Given the description of an element on the screen output the (x, y) to click on. 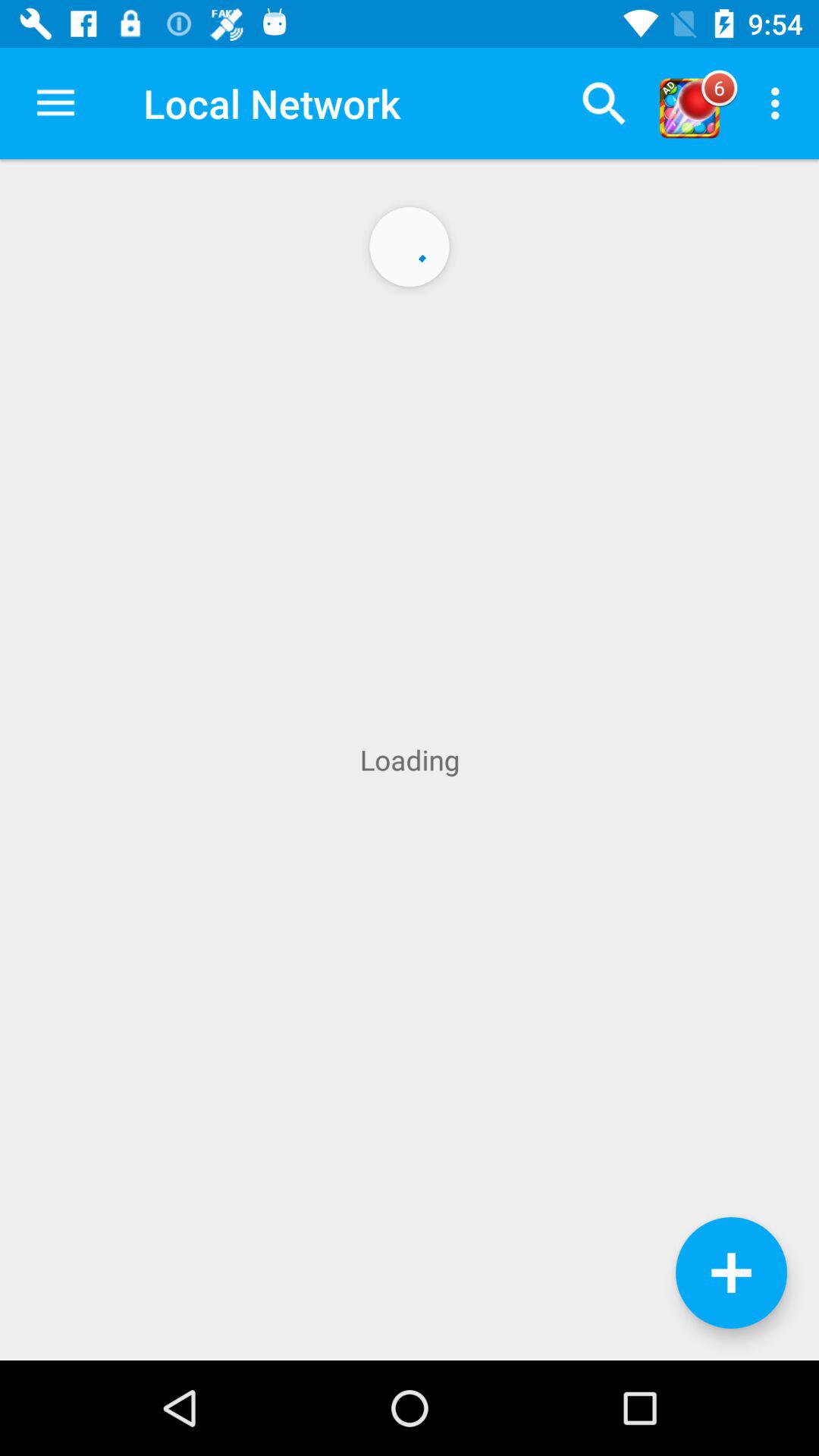
turn on the item above loading icon (55, 103)
